Given the description of an element on the screen output the (x, y) to click on. 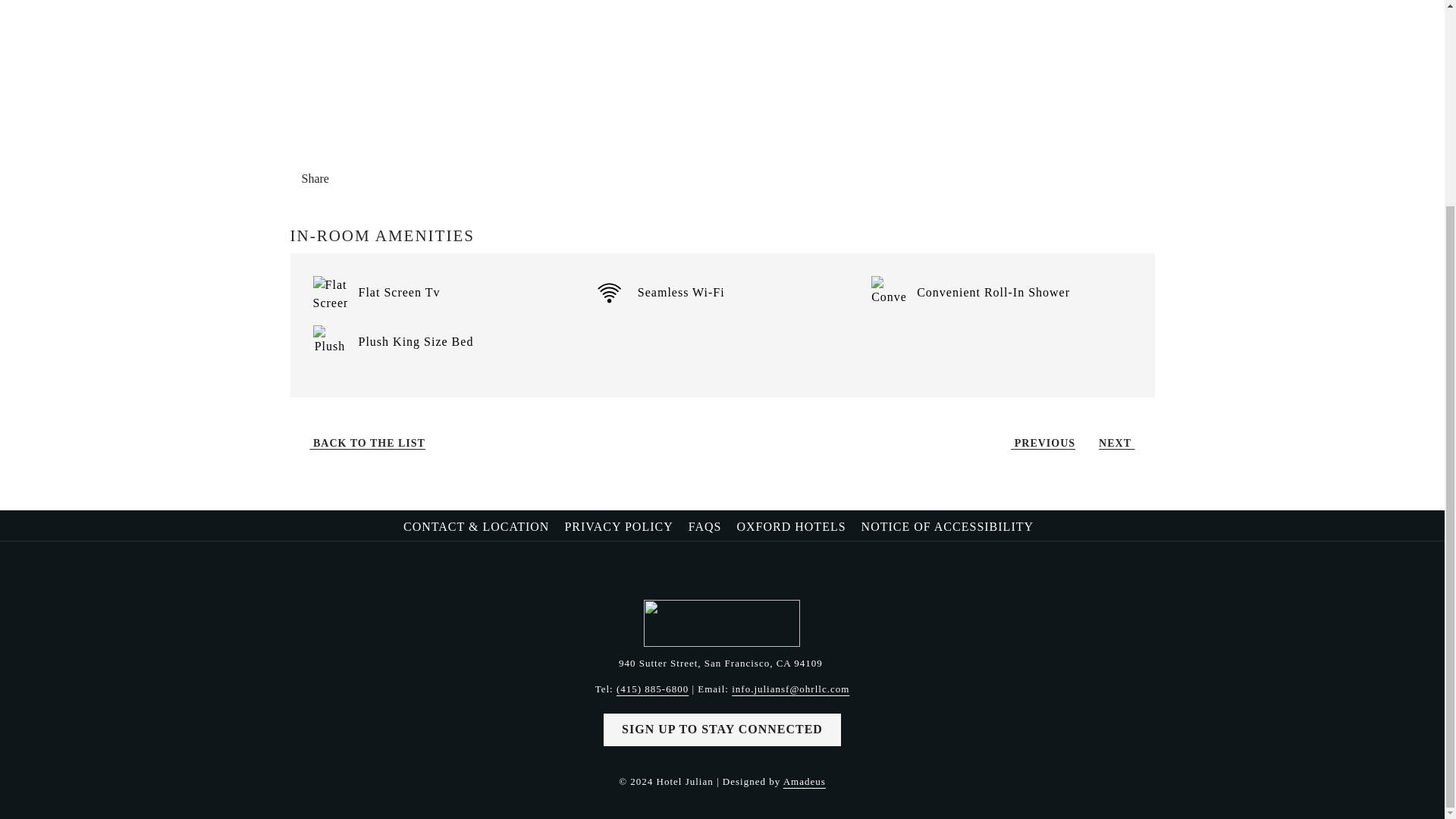
PREVIOUS (1037, 443)
NEXT (1121, 443)
BACK TO THE LIST (361, 443)
Share (328, 178)
